Given the description of an element on the screen output the (x, y) to click on. 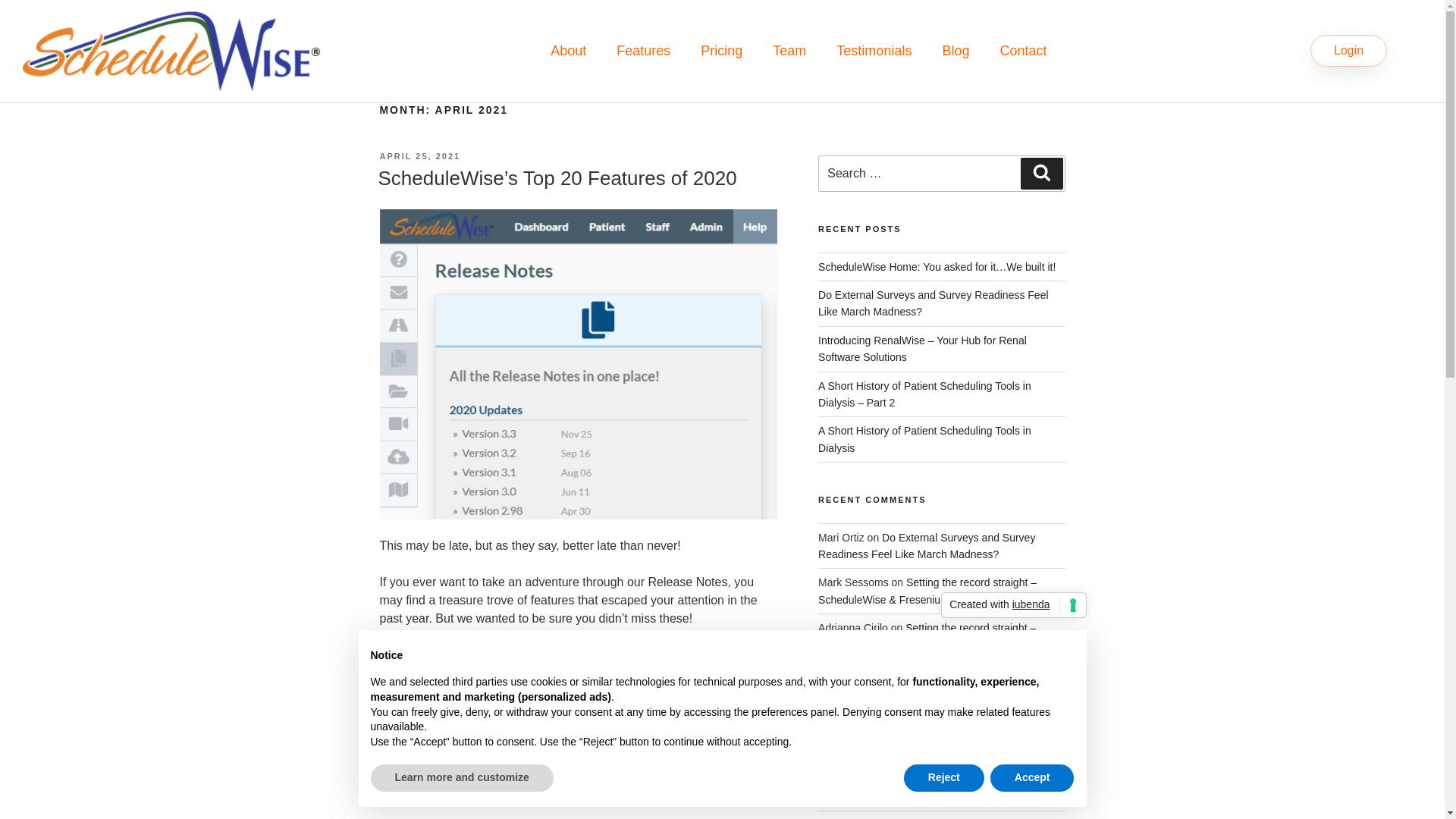
Blog (955, 50)
About (568, 50)
Pricing (721, 50)
Testimonials (873, 50)
Contact (1022, 50)
APRIL 25, 2021 (419, 155)
Login (1348, 50)
Team (789, 50)
Features (643, 50)
